Given the description of an element on the screen output the (x, y) to click on. 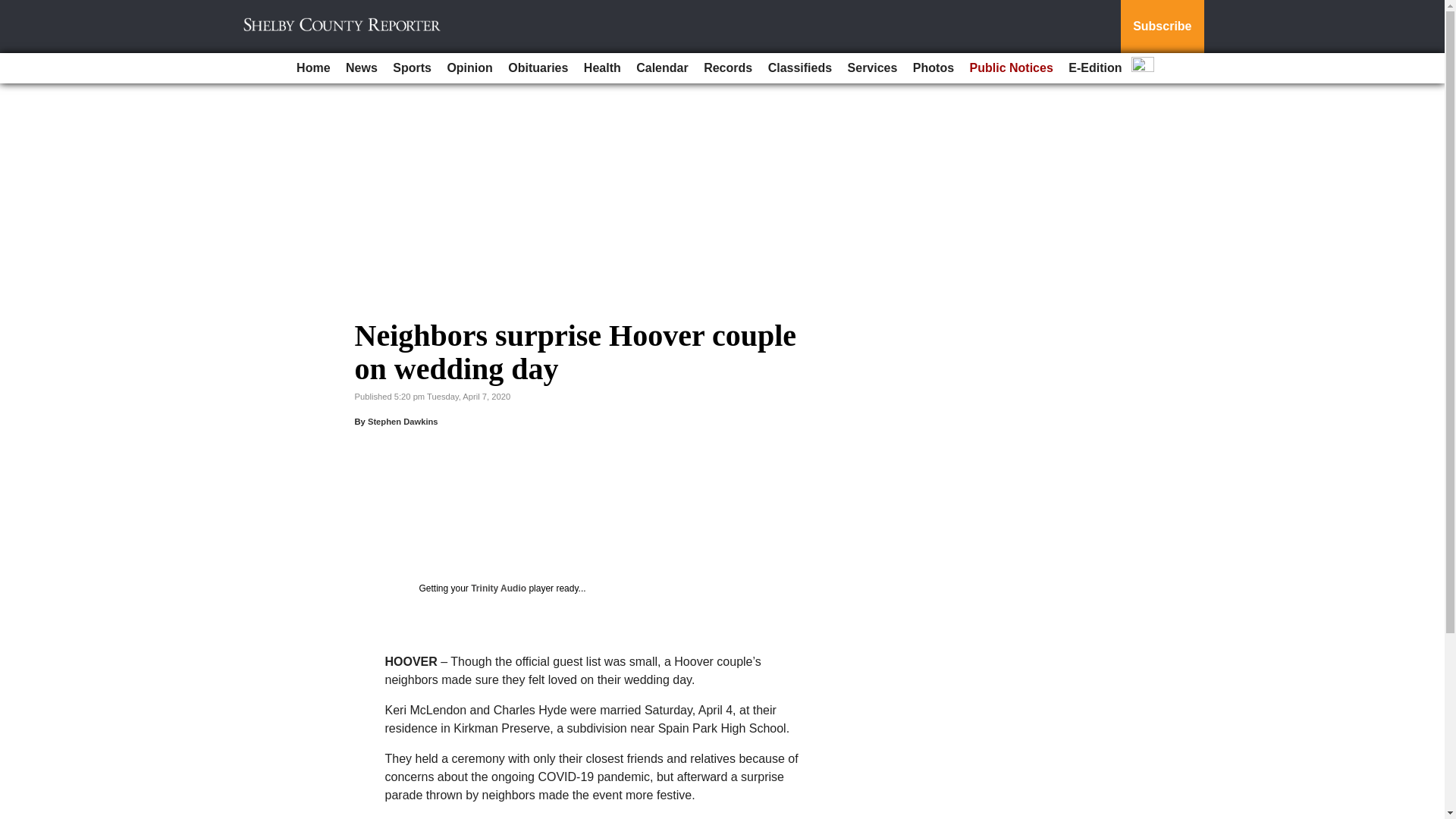
News (361, 68)
Services (872, 68)
Records (727, 68)
Opinion (469, 68)
Classifieds (799, 68)
Calendar (662, 68)
Health (602, 68)
Home (312, 68)
Subscribe (1162, 26)
Obituaries (537, 68)
